Given the description of an element on the screen output the (x, y) to click on. 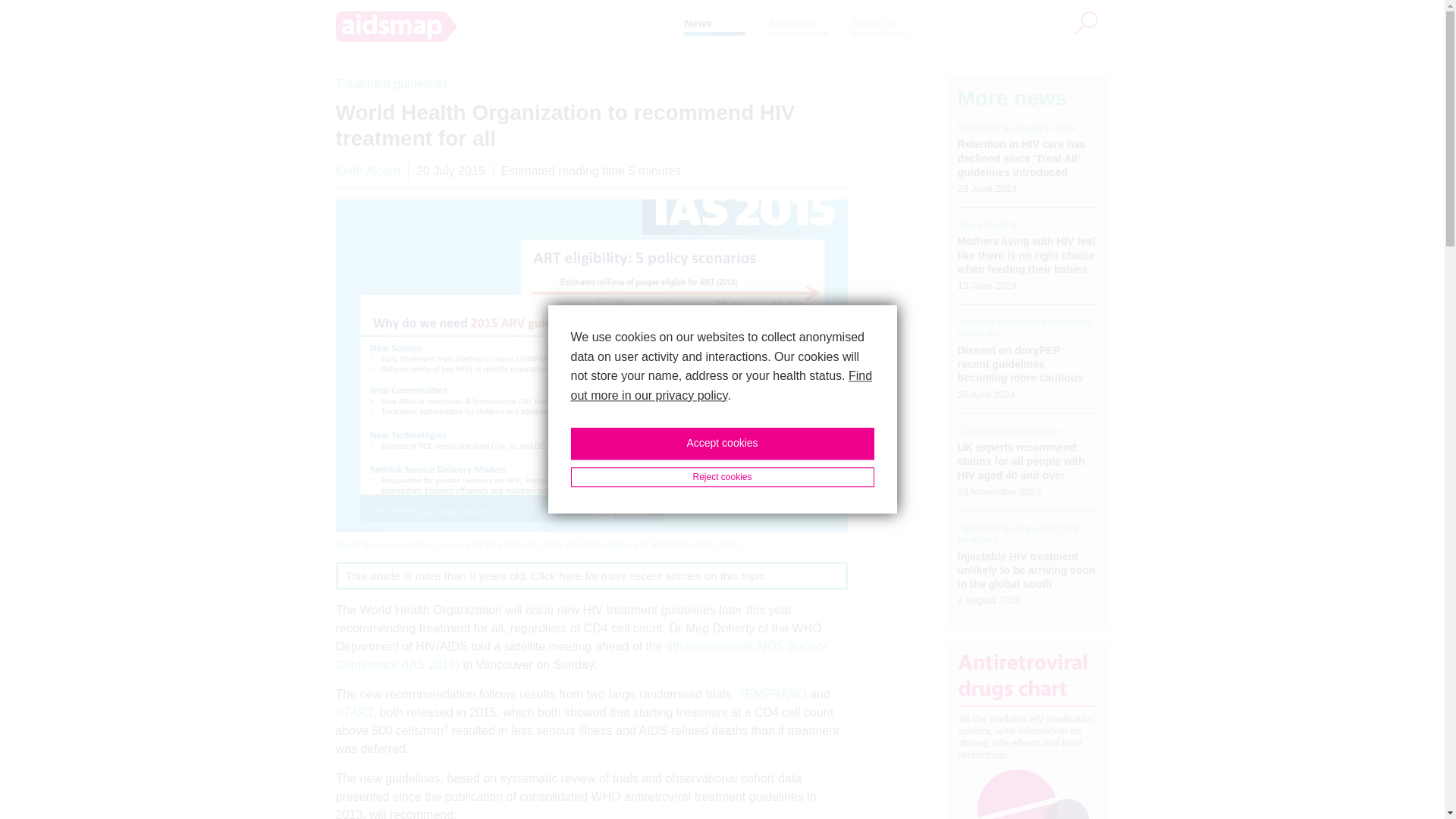
START (353, 712)
About HIV (792, 23)
Treatment guidelines (391, 83)
Home (509, 26)
TEMPRANO (772, 694)
About us (873, 23)
Keith Alcorn (366, 170)
News (697, 23)
